Given the description of an element on the screen output the (x, y) to click on. 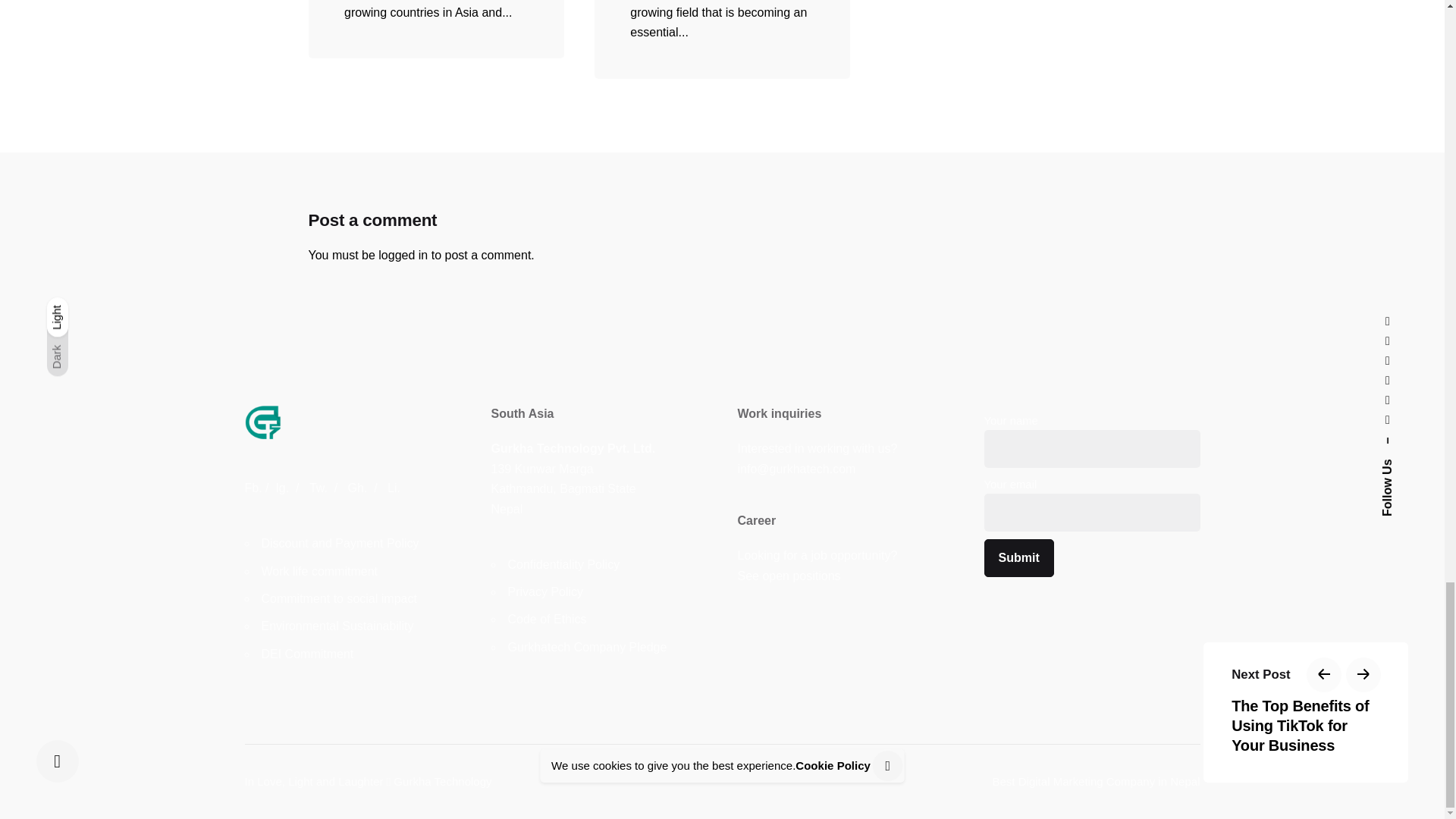
Facebook (253, 487)
Github (357, 487)
Submit (1019, 557)
Instagram (281, 487)
Linkedin (393, 487)
Twitter (317, 487)
